Given the description of an element on the screen output the (x, y) to click on. 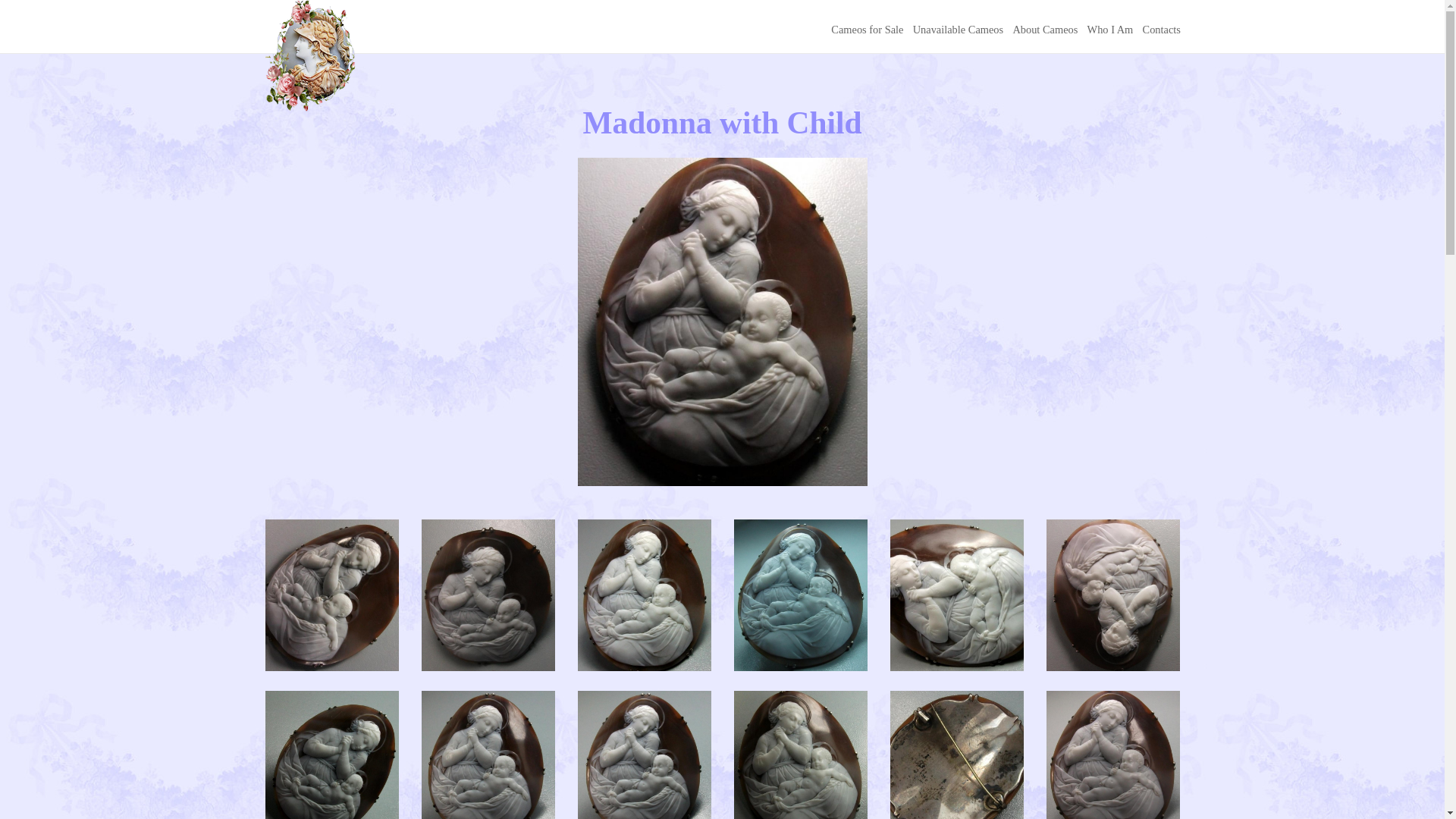
About Cameos (1044, 30)
Madonna with Child (722, 481)
Cameos for Sale (866, 30)
Madonna with Child (800, 665)
Contacts (1161, 30)
Madonna with Child (956, 665)
Madonna with Child (644, 665)
Unavailable Cameos (957, 30)
Madonna with Child (331, 665)
Who I Am (1110, 30)
